Given the description of an element on the screen output the (x, y) to click on. 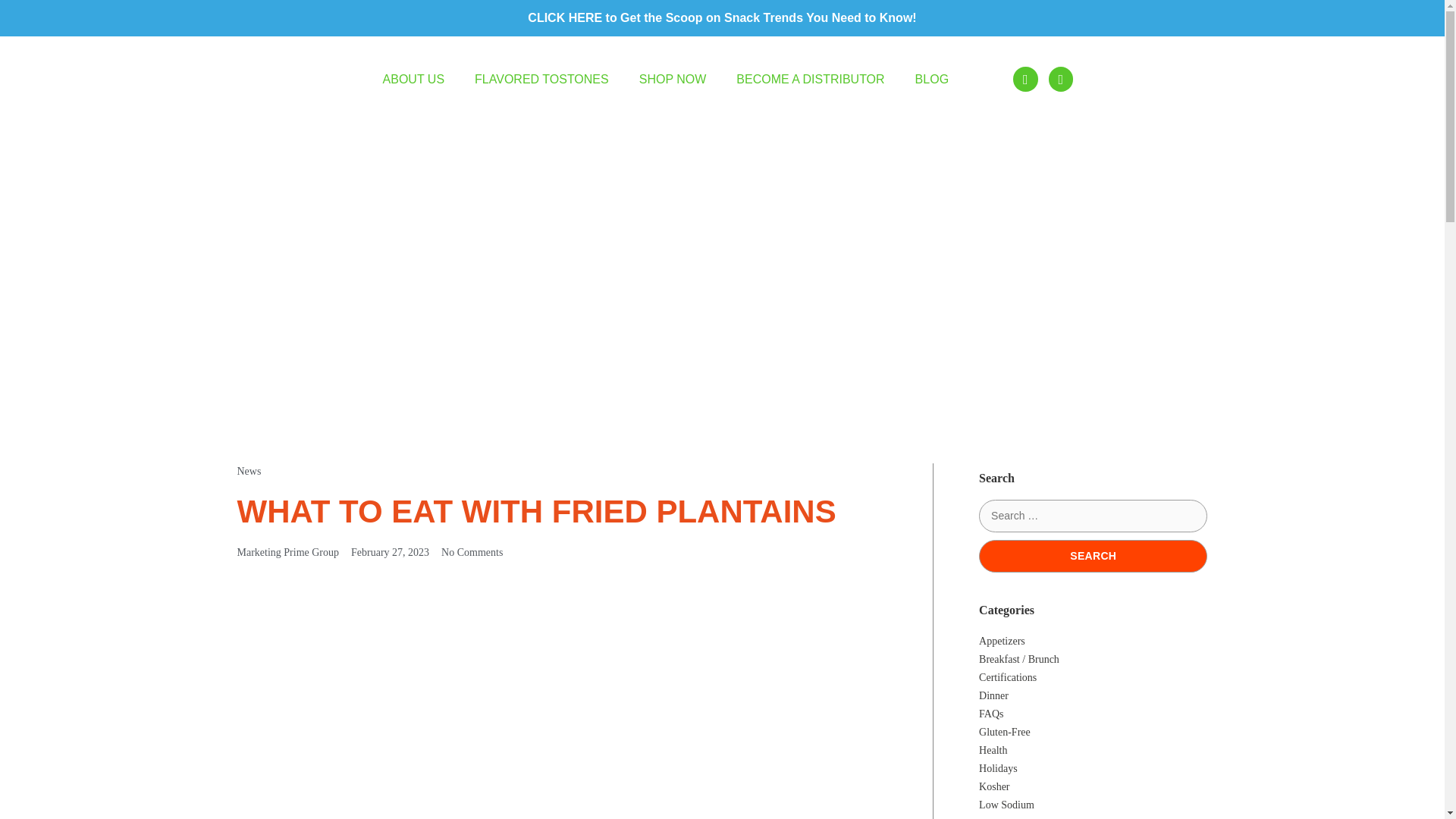
usa (1131, 79)
Search (1092, 555)
spain (1172, 79)
FLAVORED TOSTONES (542, 79)
BLOG (931, 79)
News (247, 471)
February 27, 2023 (389, 552)
No Comments (471, 552)
Marketing Prime Group (287, 552)
SHOP NOW (673, 79)
BECOME A DISTRIBUTOR (809, 79)
Search (1092, 555)
ABOUT US (414, 79)
